Given the description of an element on the screen output the (x, y) to click on. 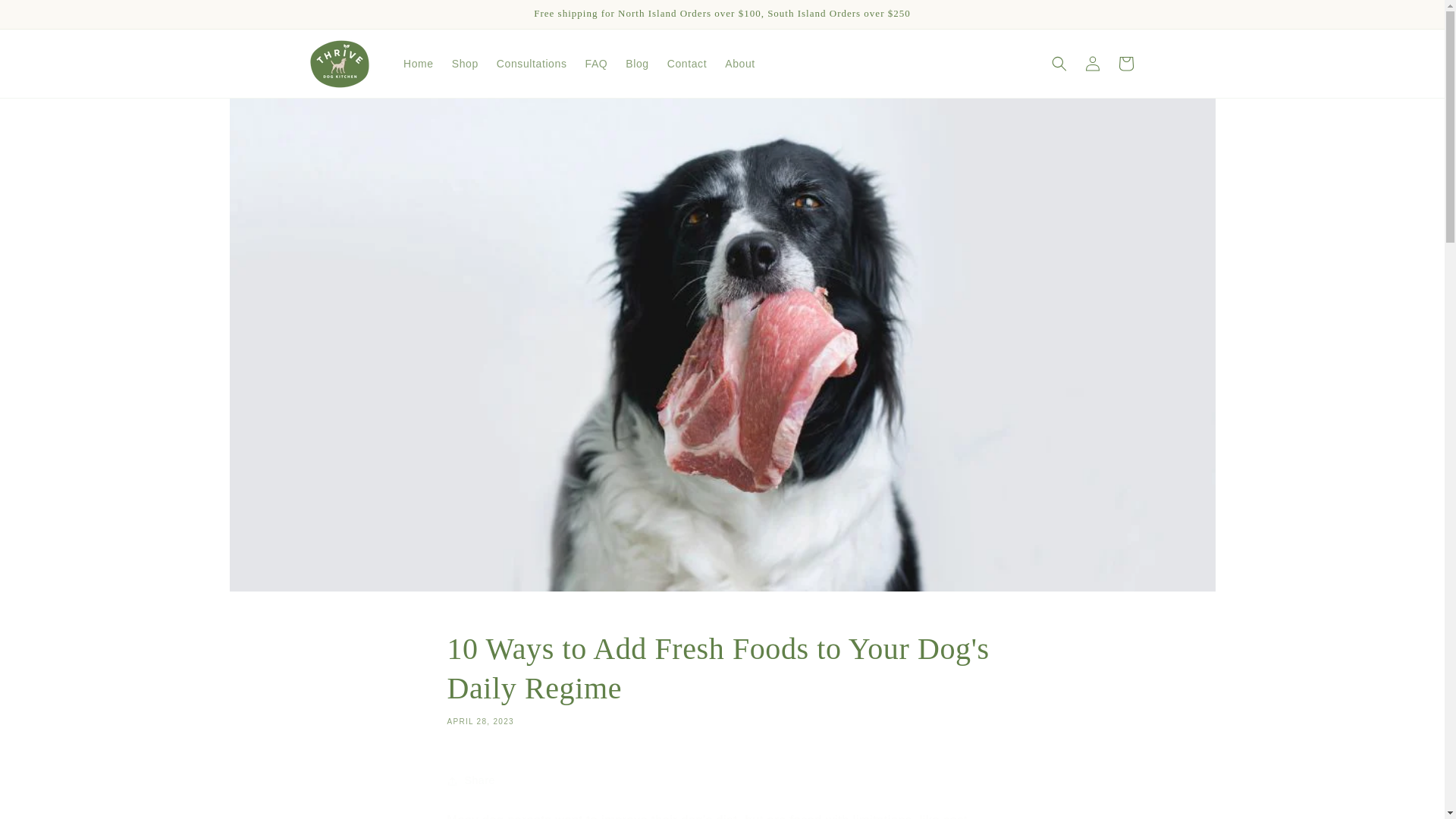
Consultations (531, 63)
Contact (687, 63)
Log in (1091, 63)
About (740, 63)
FAQ (596, 63)
Cart (1124, 63)
Share (721, 780)
Home (418, 63)
Shop (464, 63)
